Given the description of an element on the screen output the (x, y) to click on. 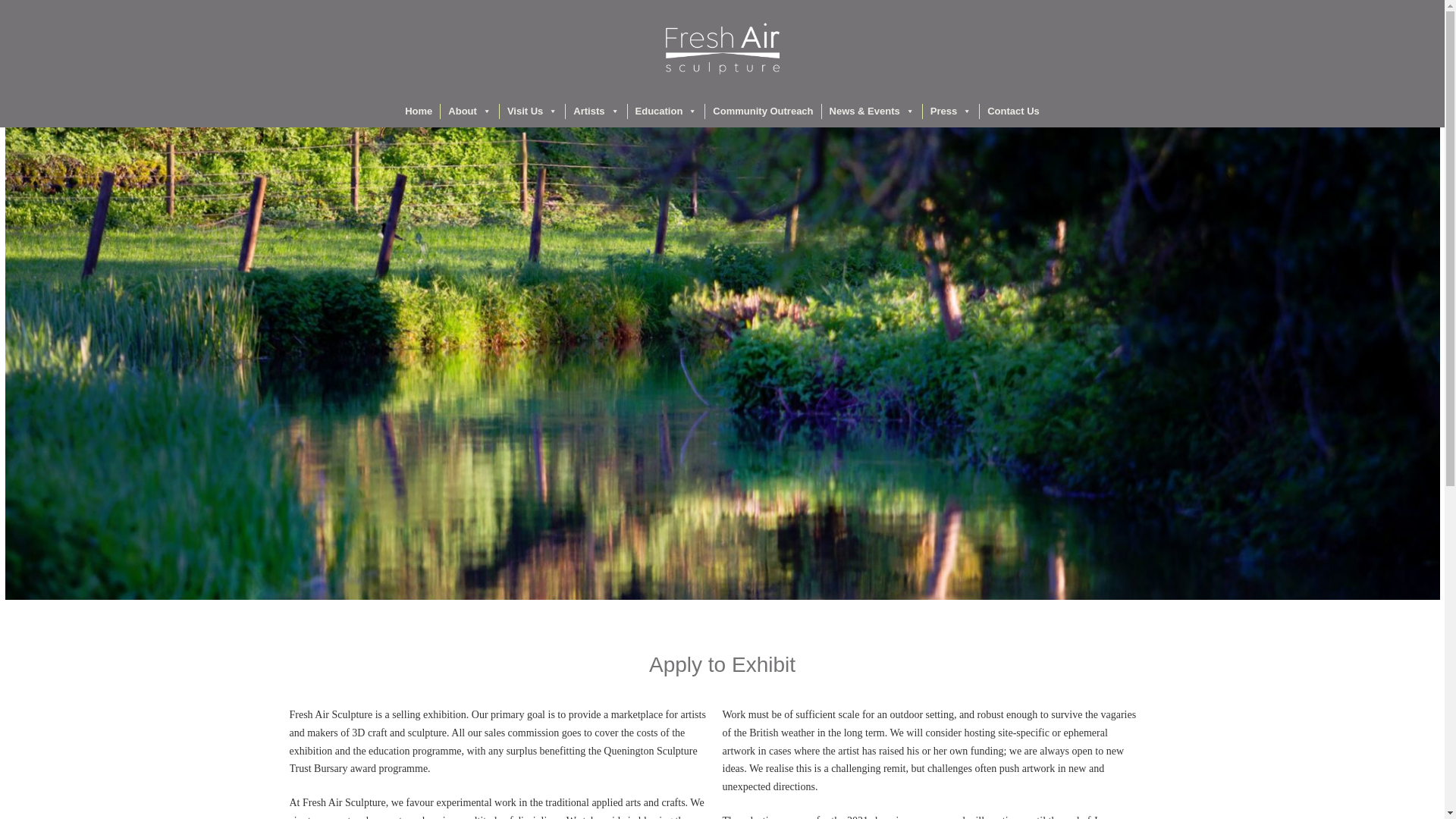
Education (665, 111)
Artists (596, 111)
Community Outreach (762, 111)
Home (418, 111)
Visit Us (531, 111)
About (470, 111)
Contact Us (1012, 111)
Press (950, 111)
